Given the description of an element on the screen output the (x, y) to click on. 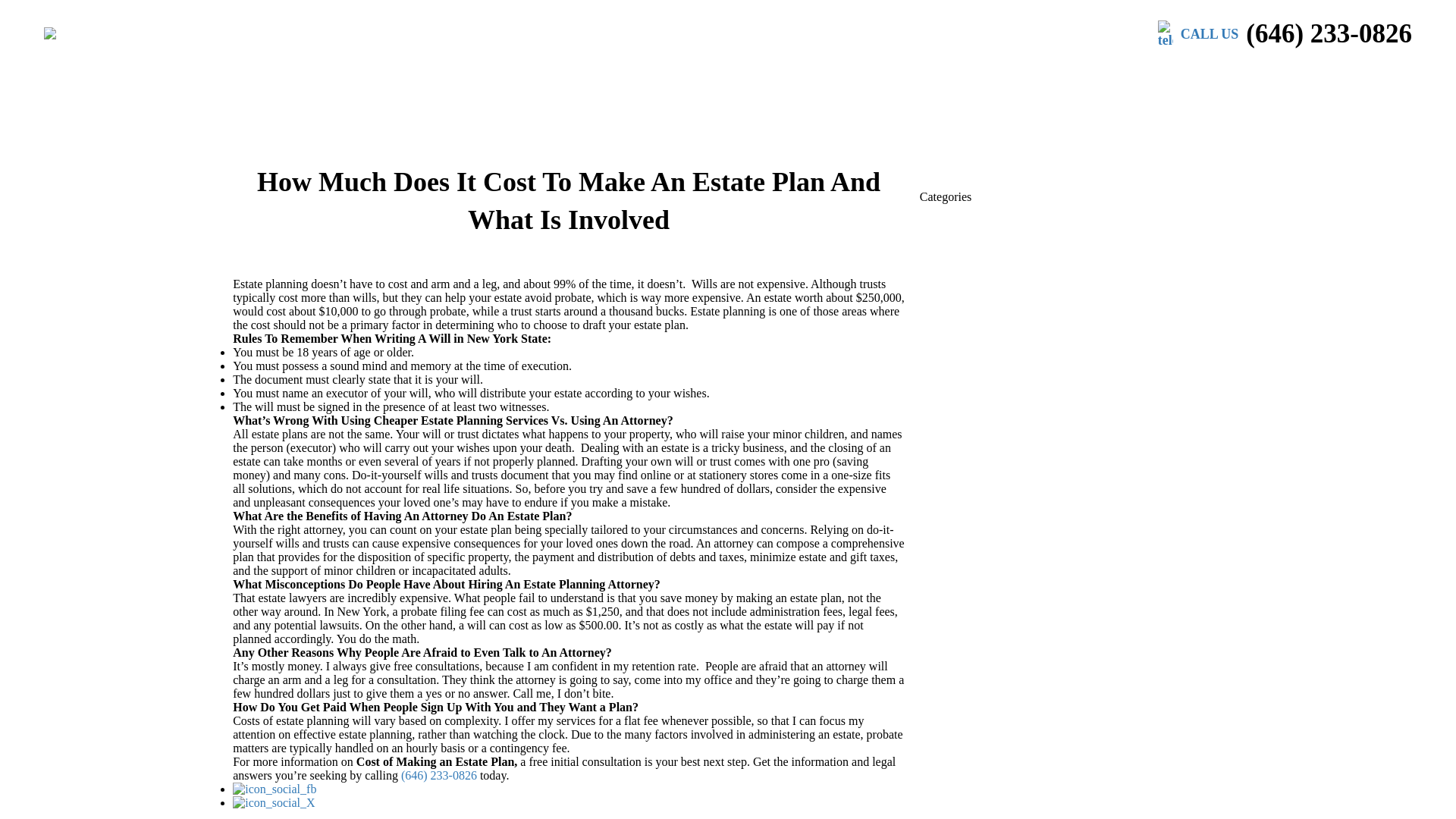
FAQs (619, 75)
About (760, 75)
FAQs (619, 75)
READ ARTICLES (965, 182)
Contact us (1002, 75)
Practice Areas (529, 75)
Lawyer Endorsements (874, 75)
Articles (688, 75)
Home (440, 75)
